Given the description of an element on the screen output the (x, y) to click on. 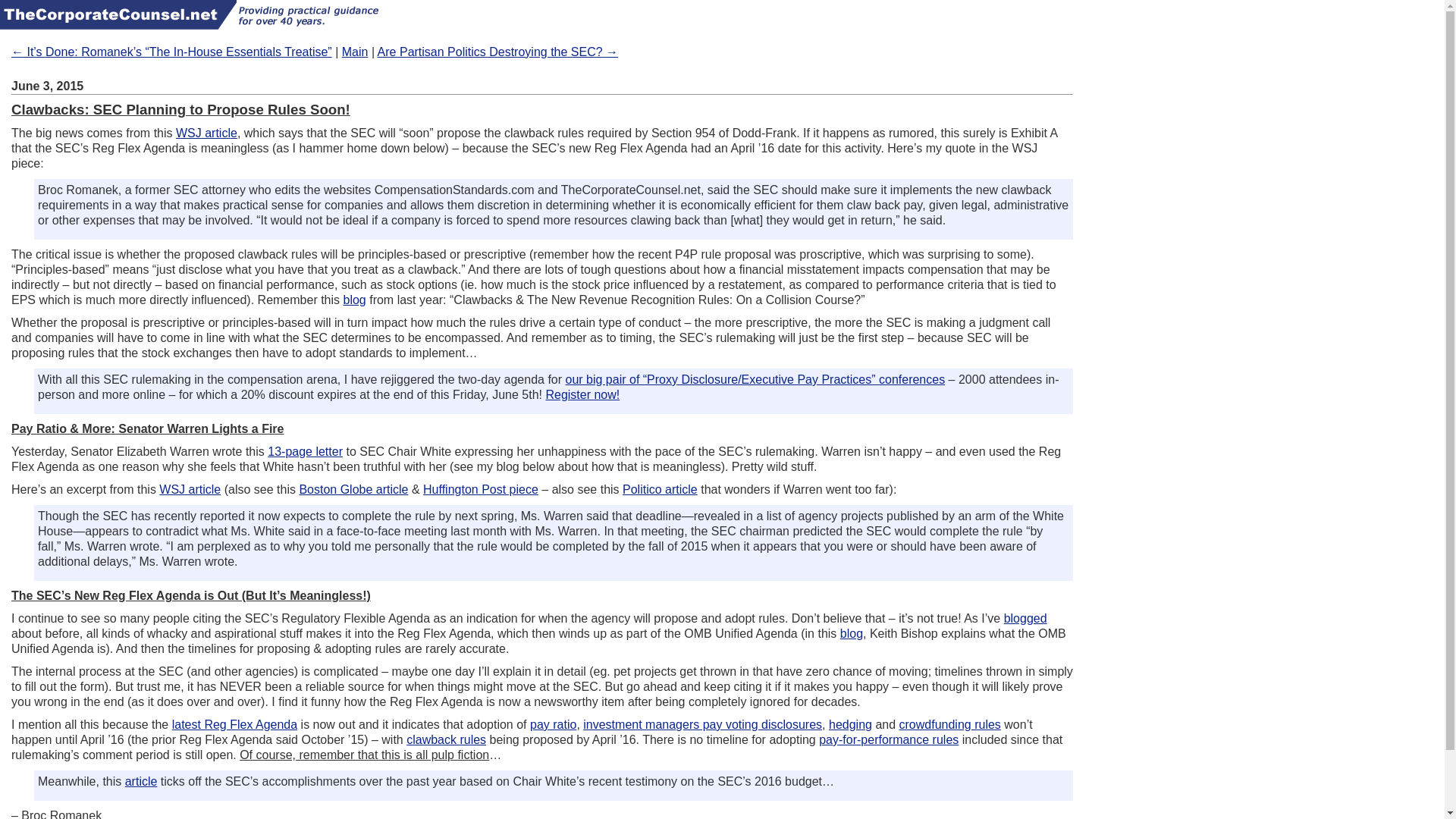
Register now! (582, 394)
Main (355, 51)
Politico article (660, 489)
Huffington Post piece (480, 489)
13-page letter (304, 451)
pay-for-performance rules (888, 739)
hedging (850, 724)
investment managers pay voting disclosures (702, 724)
crowdfunding rules (950, 724)
Clawbacks: SEC Planning to Propose Rules Soon! (180, 109)
TheCorporateCounsel.net (117, 14)
WSJ article (189, 489)
Boston Globe article (352, 489)
clawback rules (446, 739)
article (141, 780)
